Given the description of an element on the screen output the (x, y) to click on. 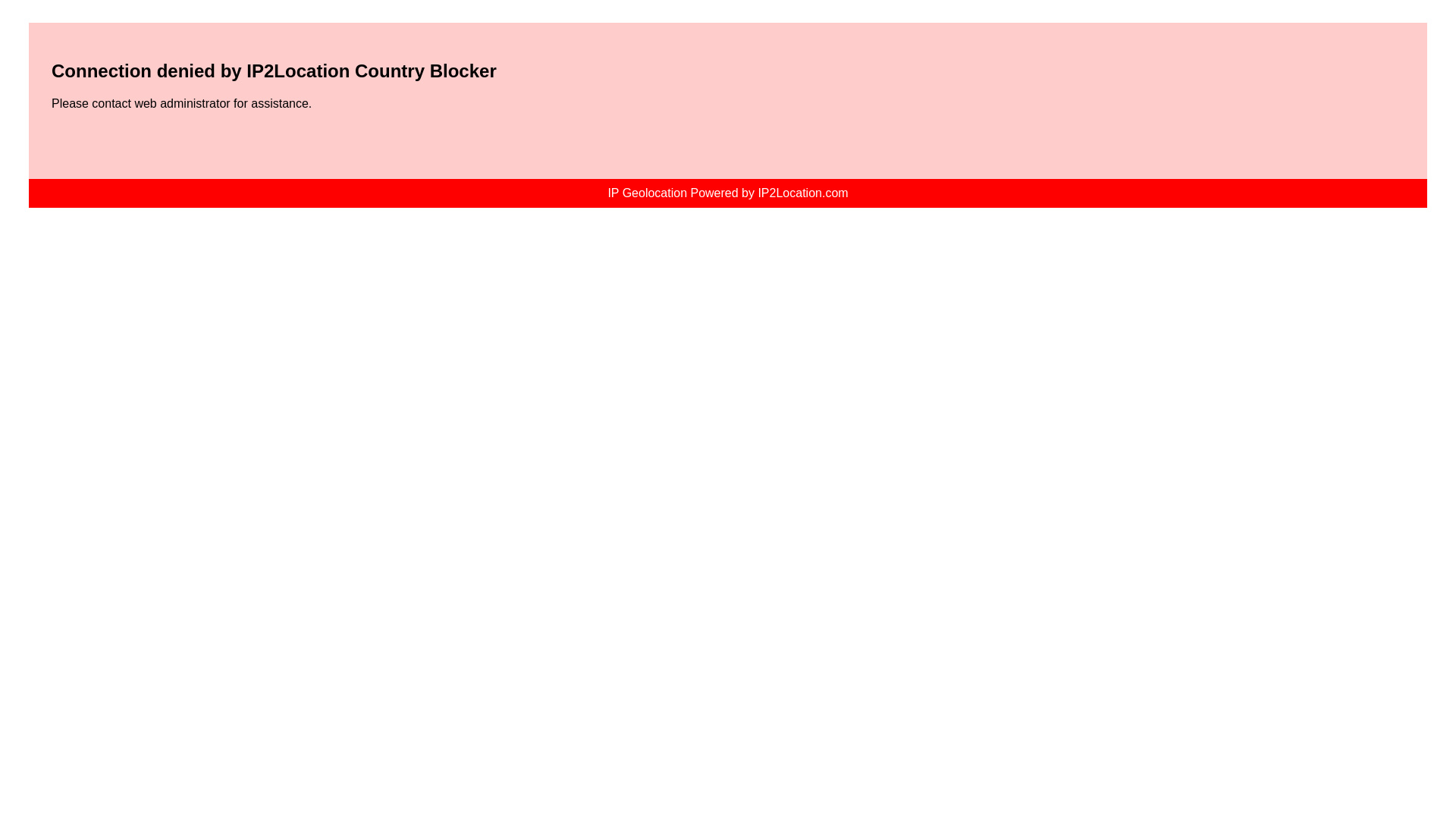
IP Geolocation Powered by IP2Location.com (727, 192)
